Given the description of an element on the screen output the (x, y) to click on. 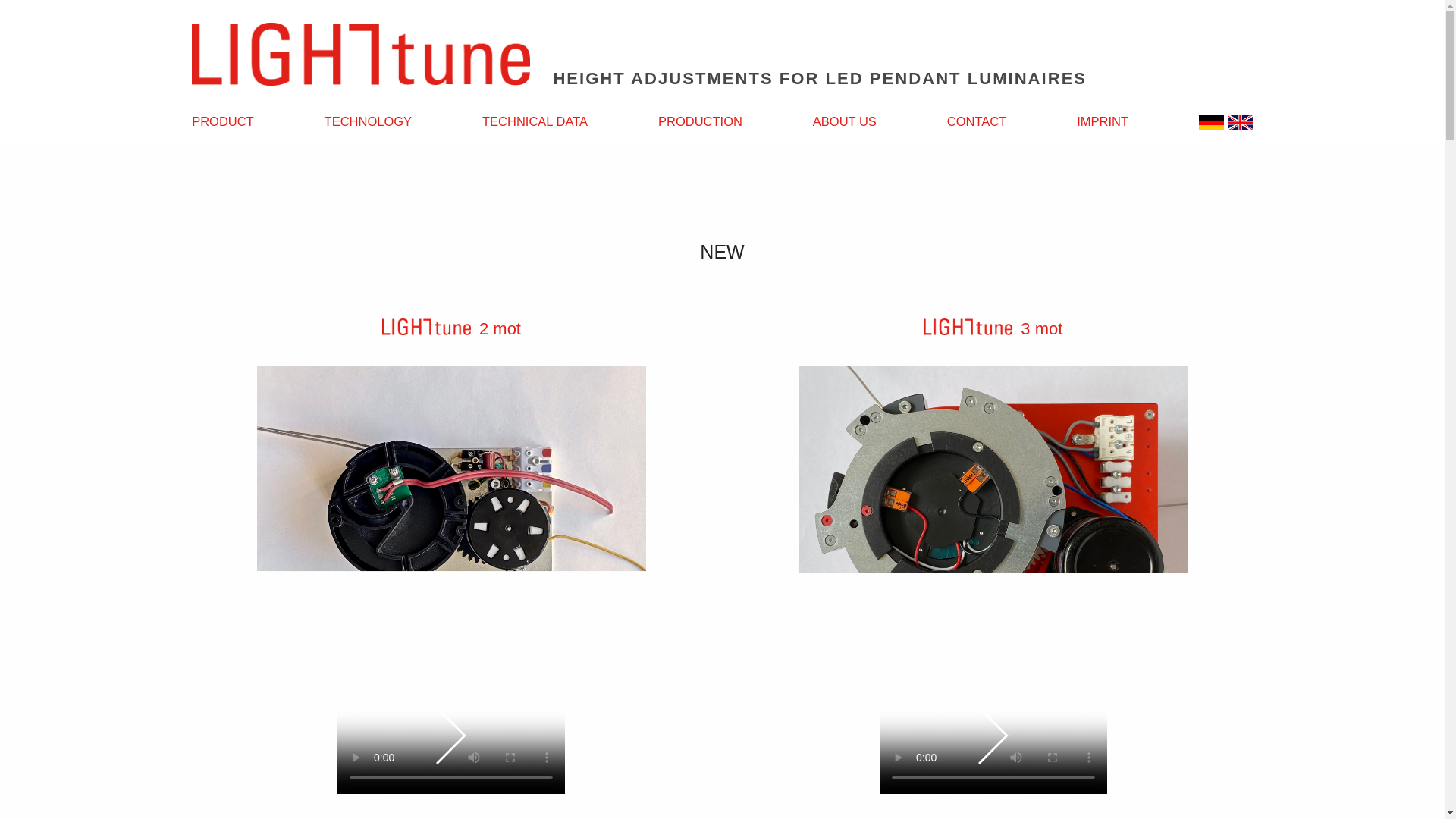
PRODUCT (227, 121)
TECHNOLOGY (372, 121)
TECHNICAL DATA (538, 121)
CONTACT (980, 121)
ABOUT US (847, 121)
PRODUCTION (703, 121)
IMPRINT (1106, 121)
